Given the description of an element on the screen output the (x, y) to click on. 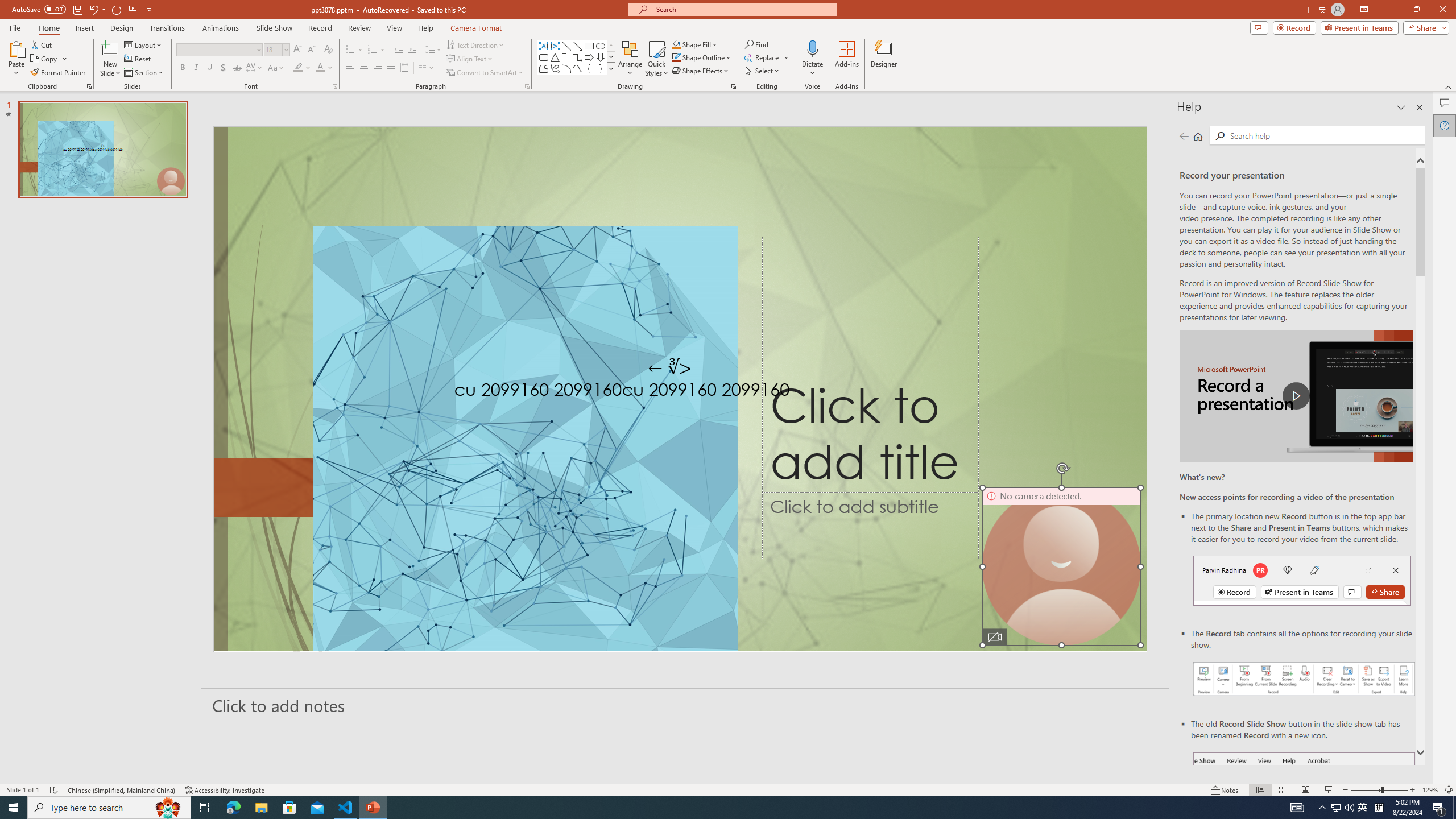
Previous page (1183, 136)
